Given the description of an element on the screen output the (x, y) to click on. 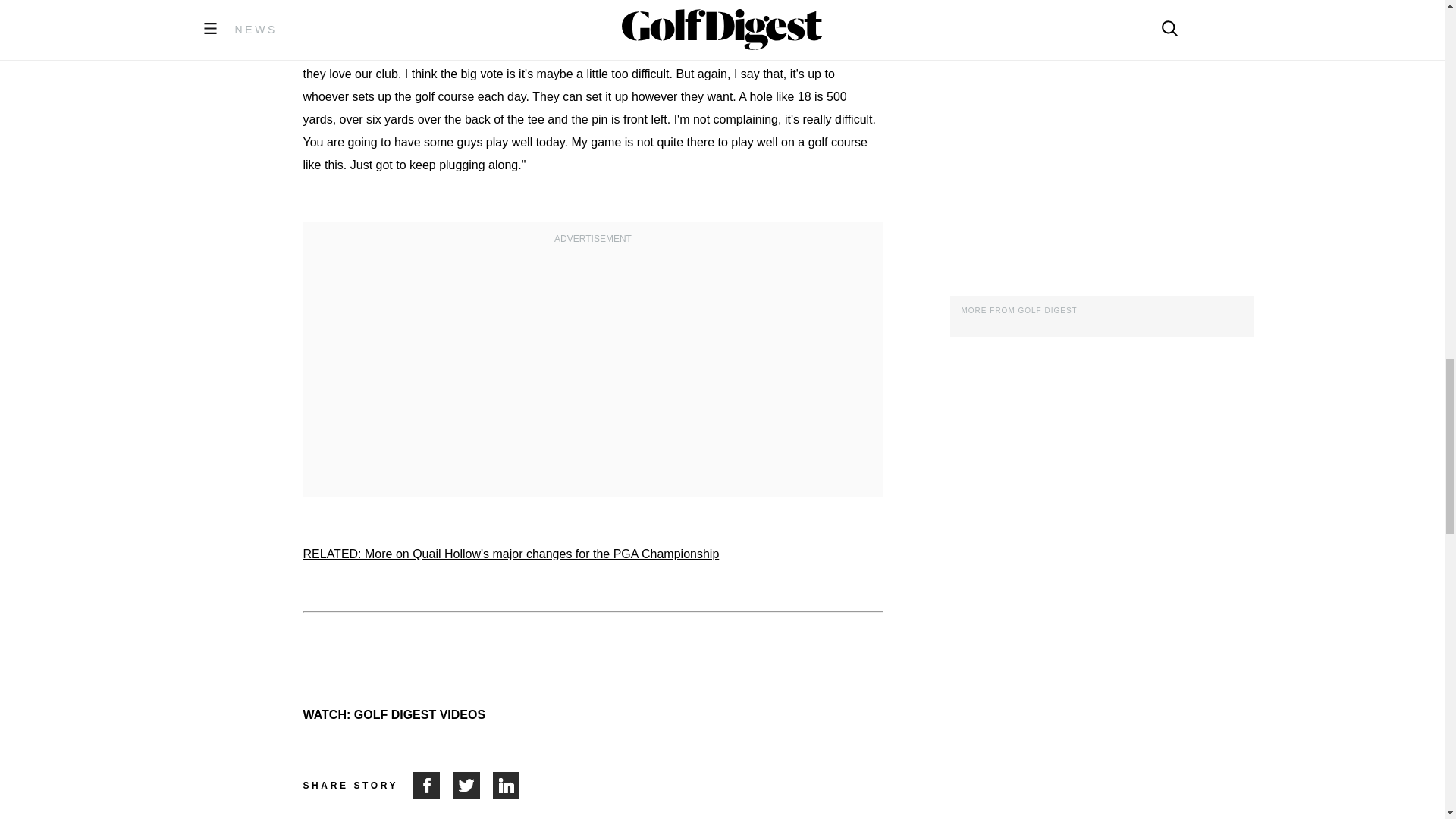
Share on Facebook (432, 785)
Share on LinkedIn (506, 785)
Share on Twitter (472, 785)
